Given the description of an element on the screen output the (x, y) to click on. 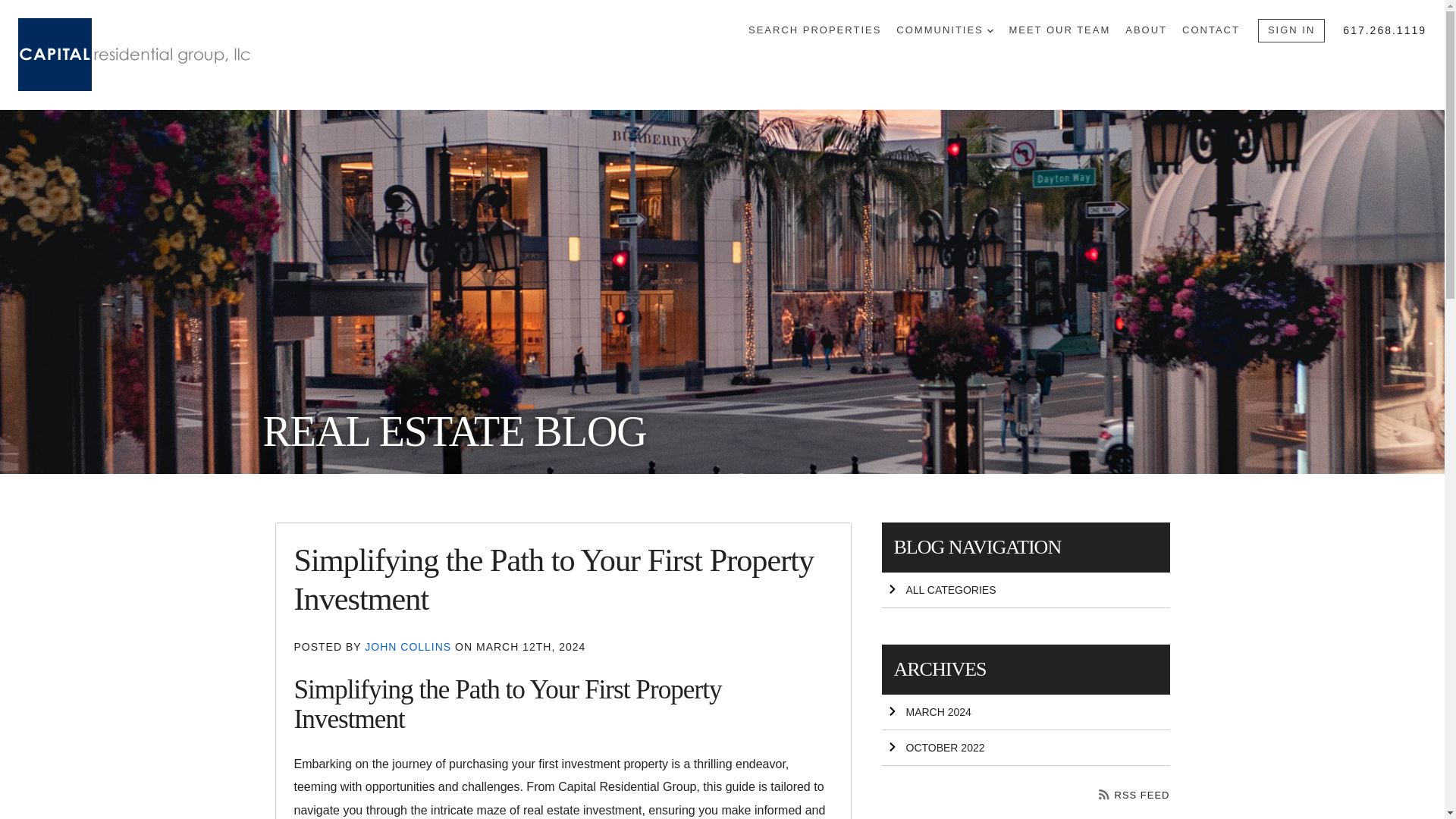
617.268.1119 (1384, 29)
RSS FEED (1134, 794)
DROPDOWN ARROW (989, 30)
MARCH 2024 (1024, 712)
CONTACT (1211, 30)
RSS FEED (1134, 794)
JOHN COLLINS (409, 646)
OCTOBER 2022 (1024, 747)
SIGN IN (1290, 30)
SEARCH PROPERTIES (814, 30)
